Given the description of an element on the screen output the (x, y) to click on. 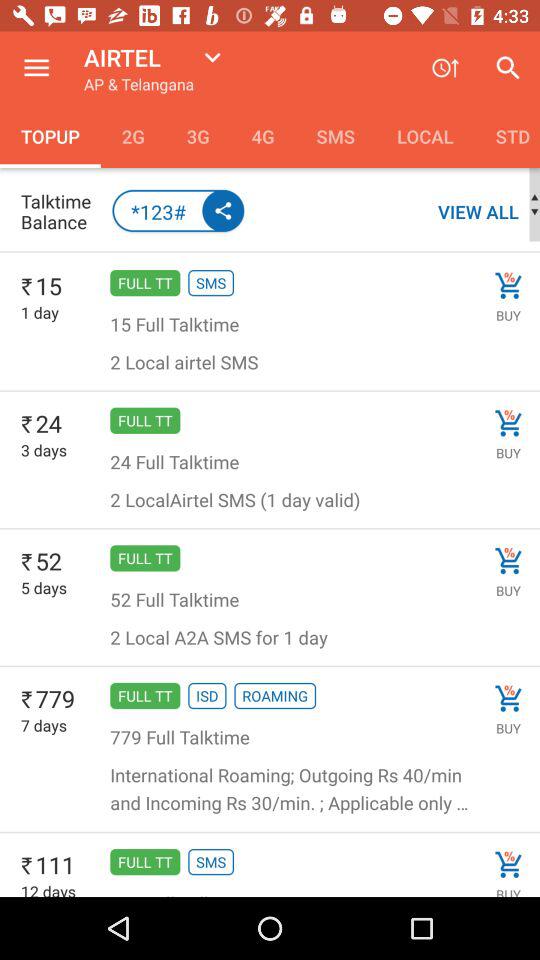
turn on the item next to full tt item (44, 449)
